Given the description of an element on the screen output the (x, y) to click on. 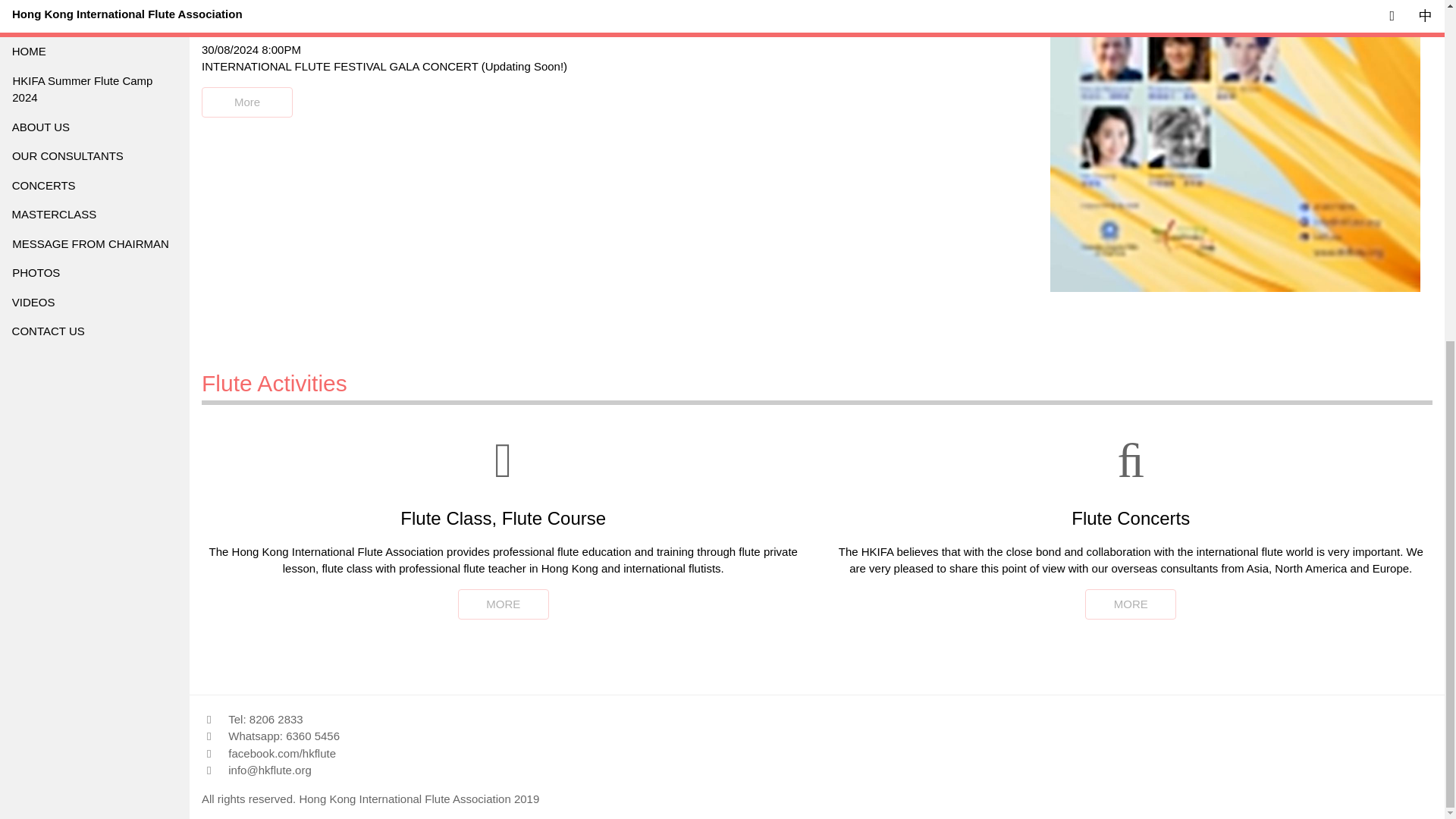
More (247, 101)
MORE (503, 603)
More (247, 101)
MORE (1130, 603)
MORE (1130, 603)
MORE (502, 603)
